Given the description of an element on the screen output the (x, y) to click on. 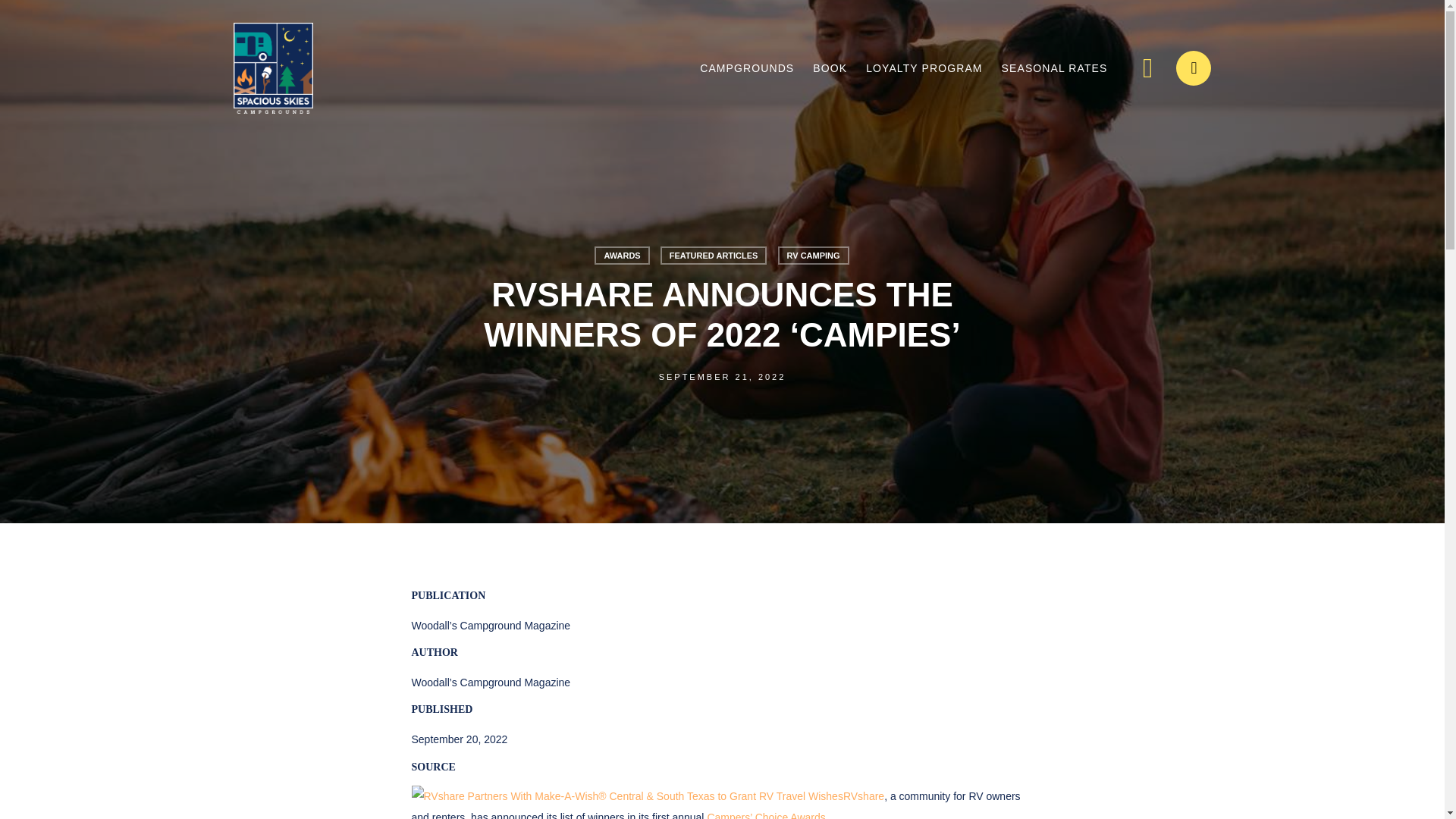
AWARDS (621, 255)
BOOK (829, 68)
RV CAMPING (812, 255)
SEASONAL RATES (1054, 68)
CAMPGROUNDS (746, 68)
RVshare (646, 796)
FEATURED ARTICLES (714, 255)
LOYALTY PROGRAM (923, 68)
